Given the description of an element on the screen output the (x, y) to click on. 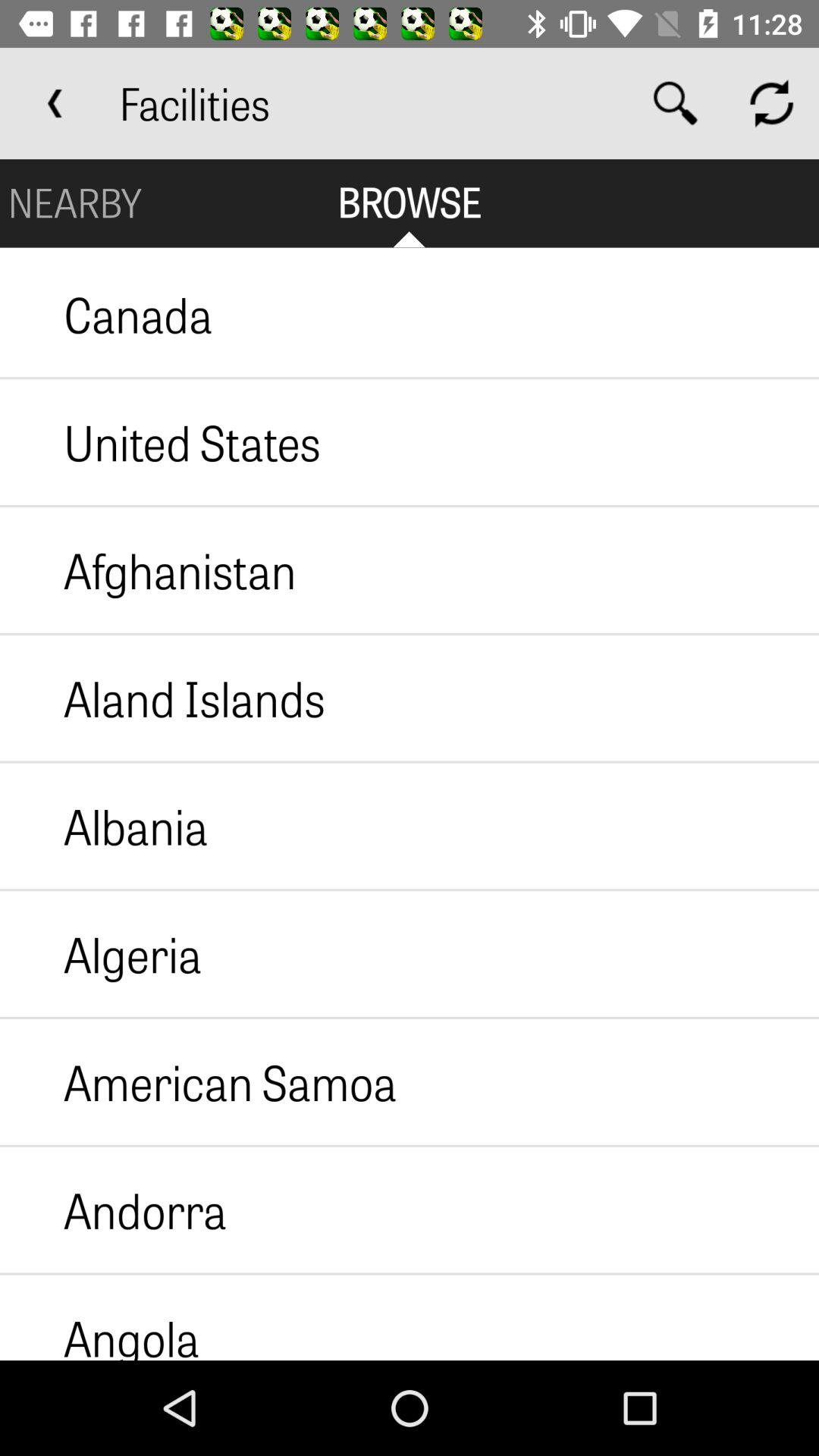
turn off item above the american samoa (100, 953)
